Given the description of an element on the screen output the (x, y) to click on. 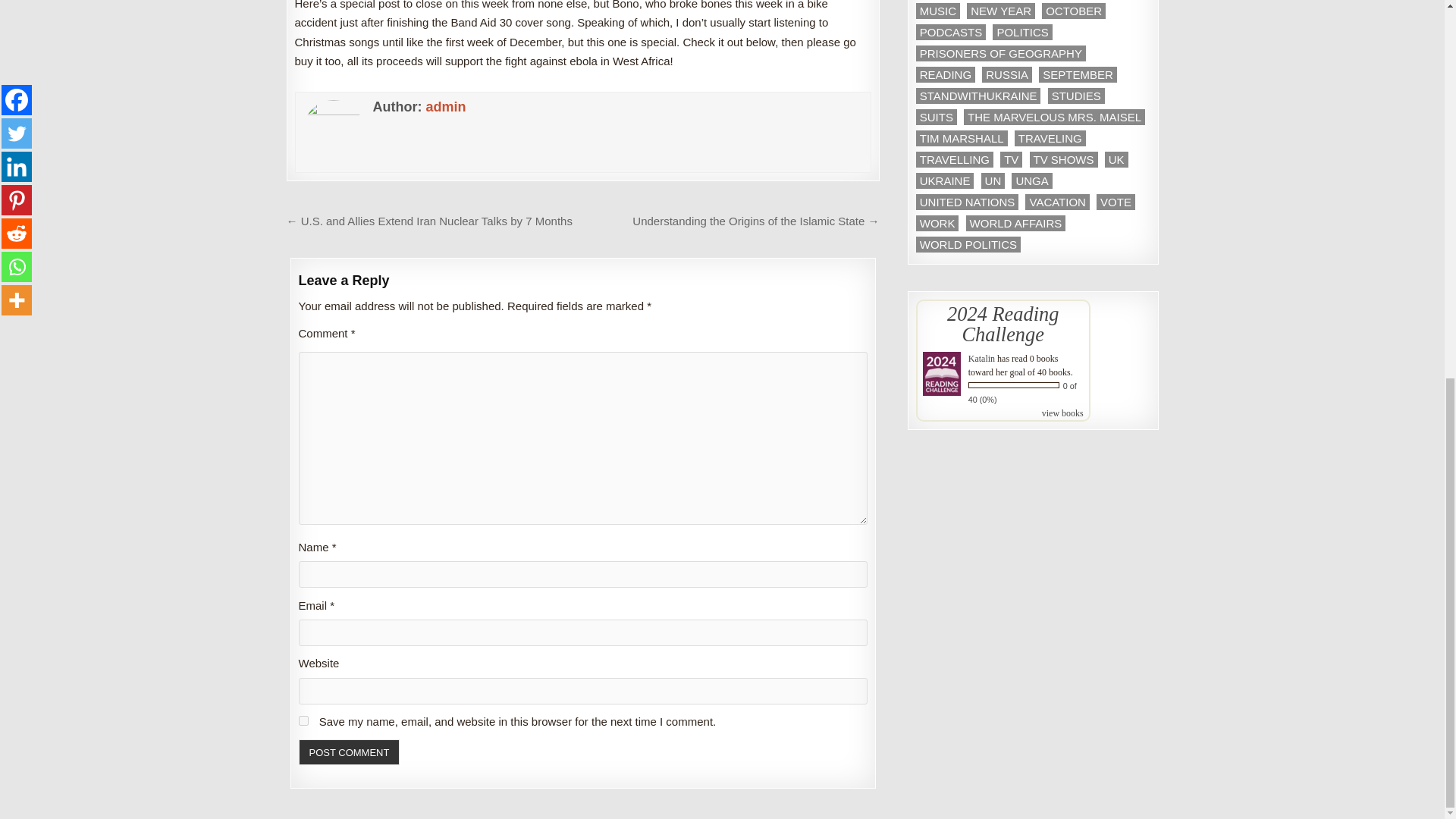
Post Comment (349, 751)
Post Comment (349, 751)
yes (303, 720)
admin (445, 106)
